Given the description of an element on the screen output the (x, y) to click on. 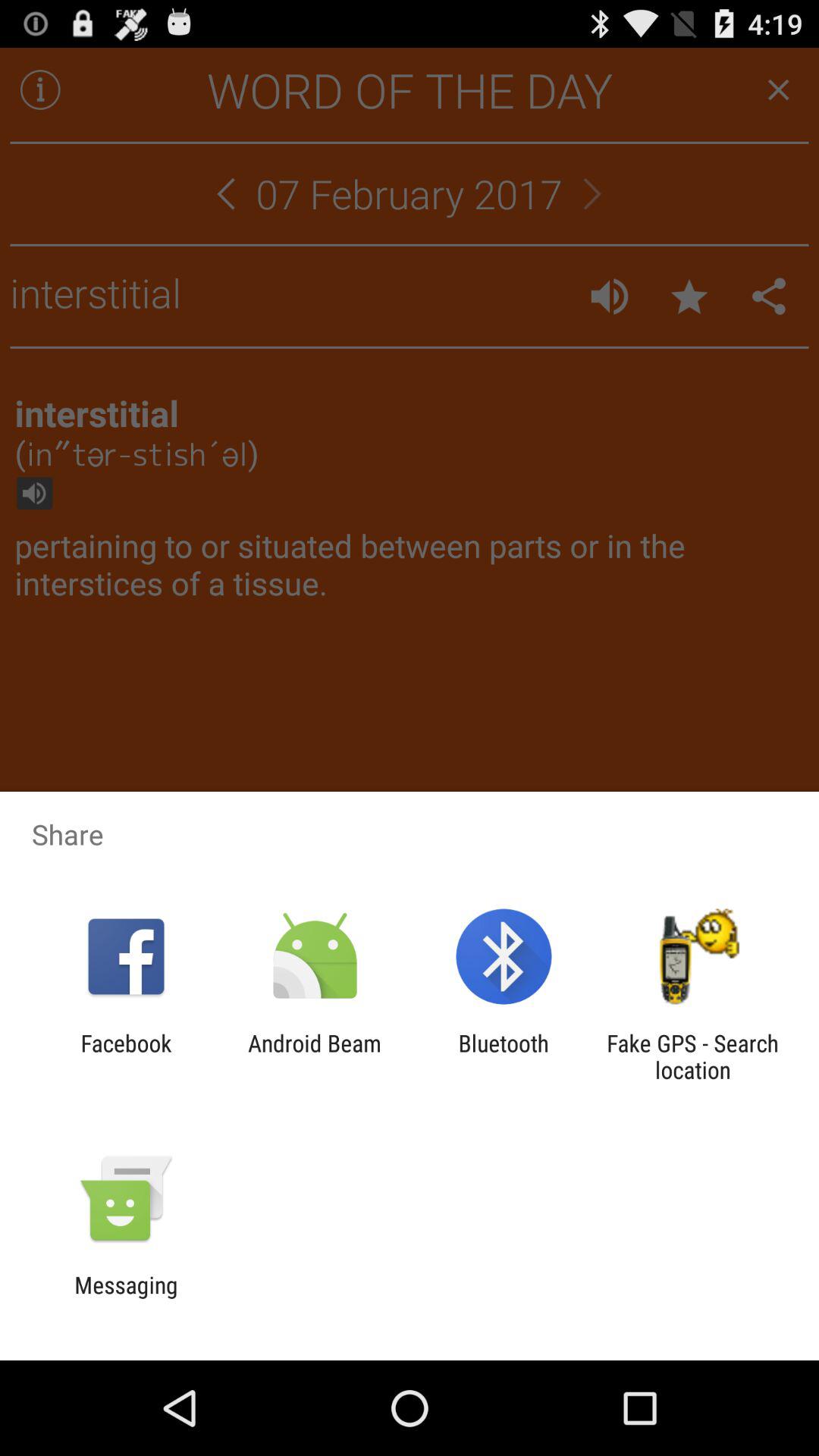
turn on the app to the right of the facebook icon (314, 1056)
